Given the description of an element on the screen output the (x, y) to click on. 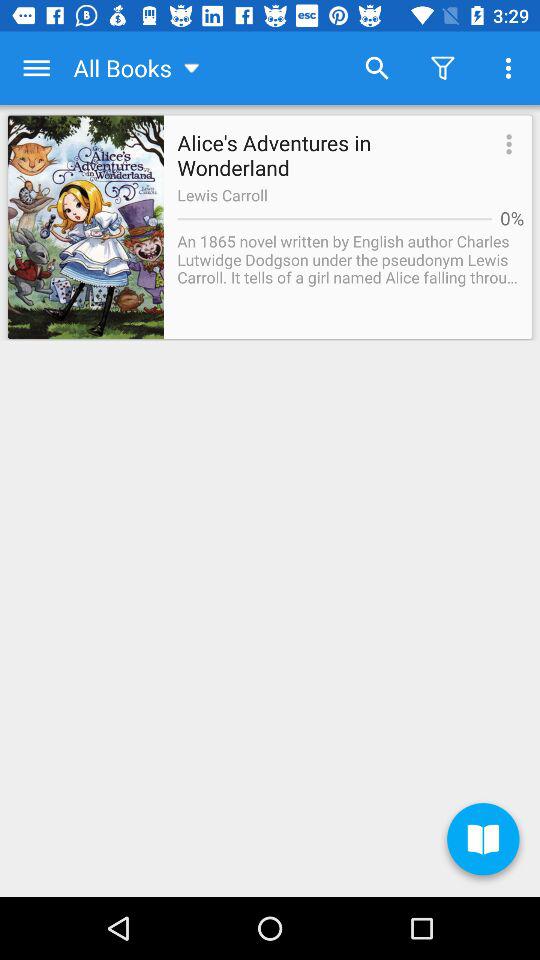
turn off icon next to the all books icon (376, 67)
